Given the description of an element on the screen output the (x, y) to click on. 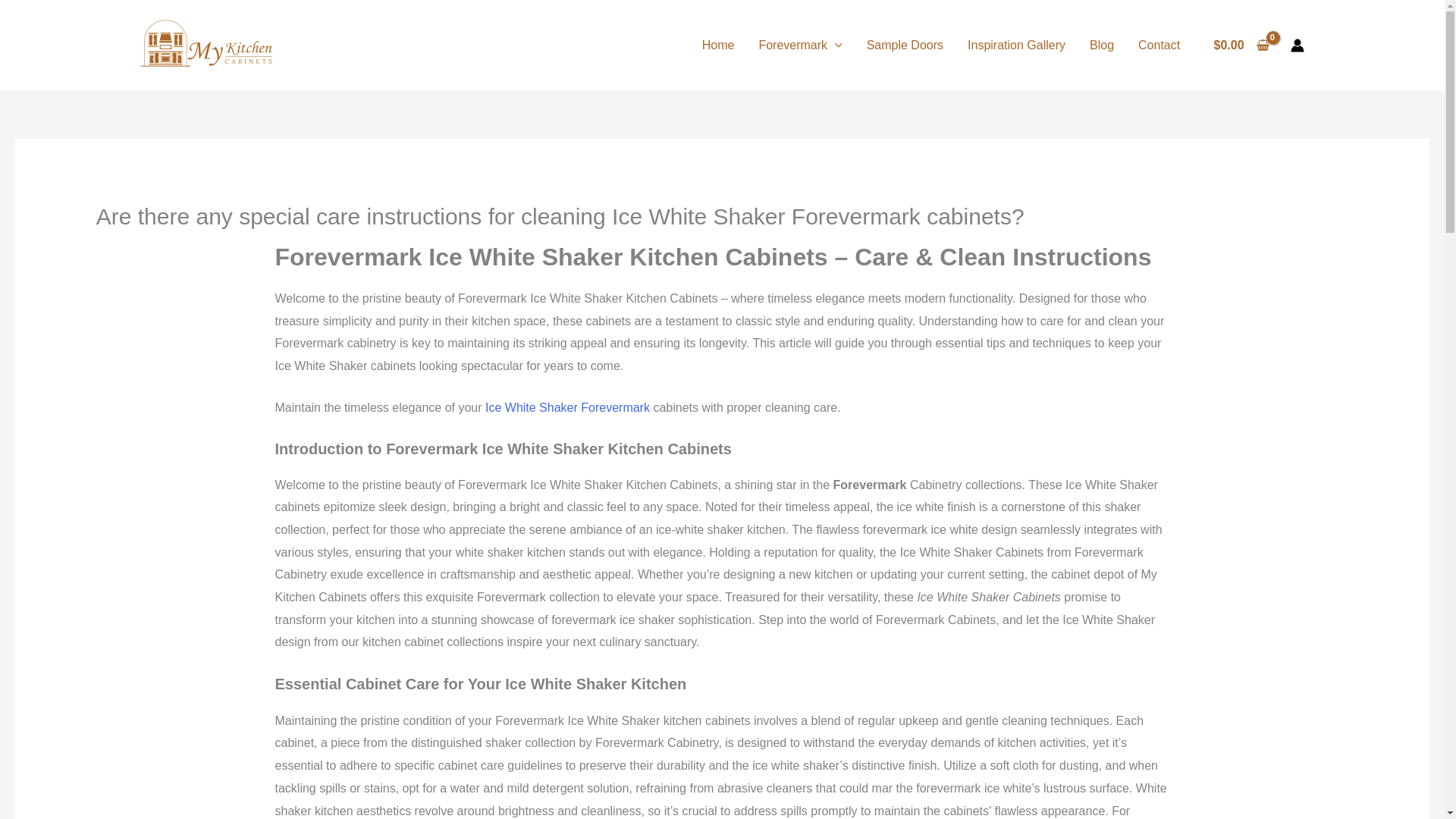
Home (718, 44)
Forevermark (799, 44)
Blog (1101, 44)
Sample Doors (904, 44)
Ice White Shaker Forevermark (566, 407)
Contact (1158, 44)
Inspiration Gallery (1016, 44)
